Given the description of an element on the screen output the (x, y) to click on. 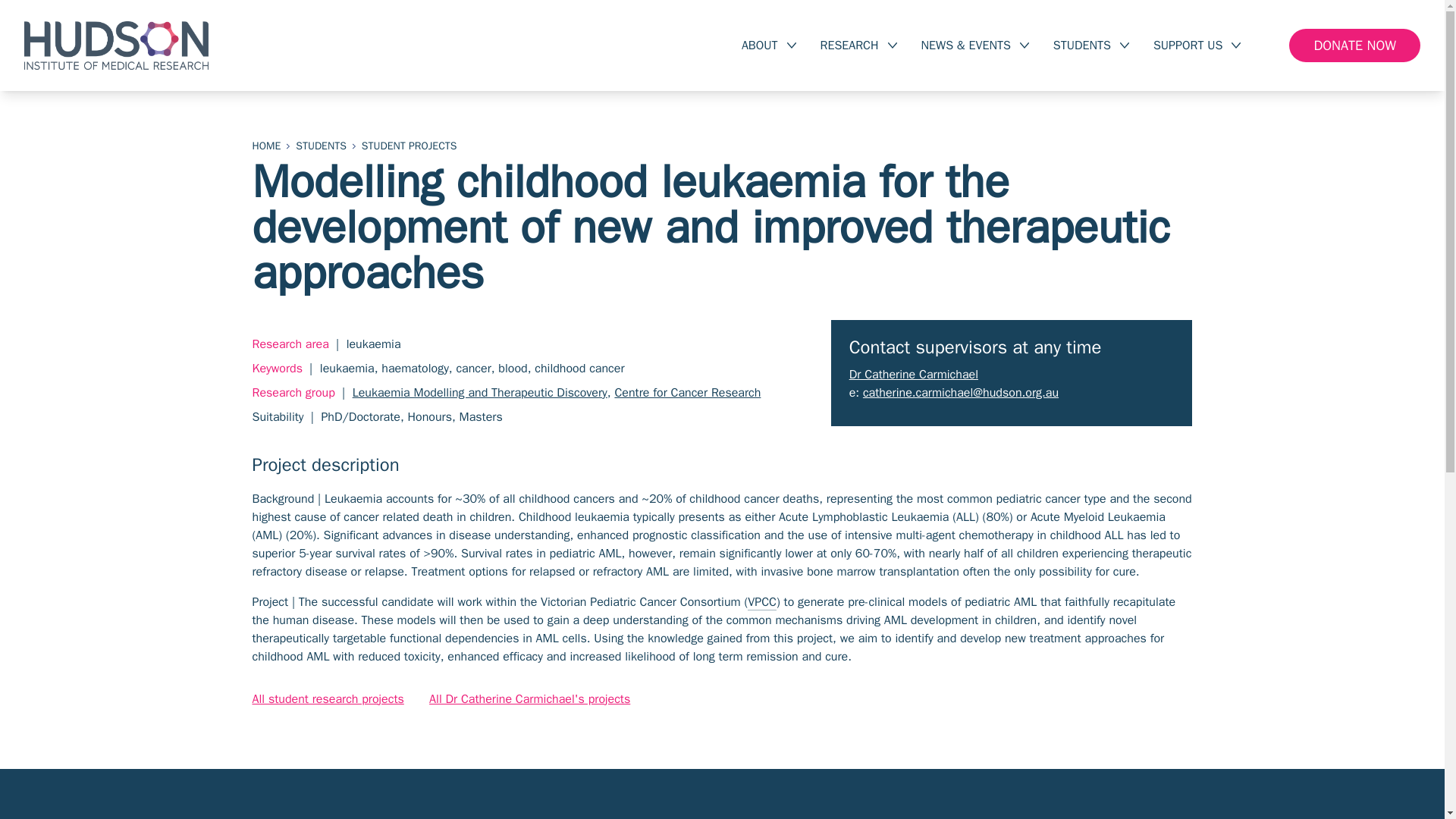
ABOUT (768, 45)
Go to home (266, 146)
Go to Students (320, 146)
STUDENTS (1091, 45)
Go to Student projects (409, 146)
RESEARCH (858, 45)
